Given the description of an element on the screen output the (x, y) to click on. 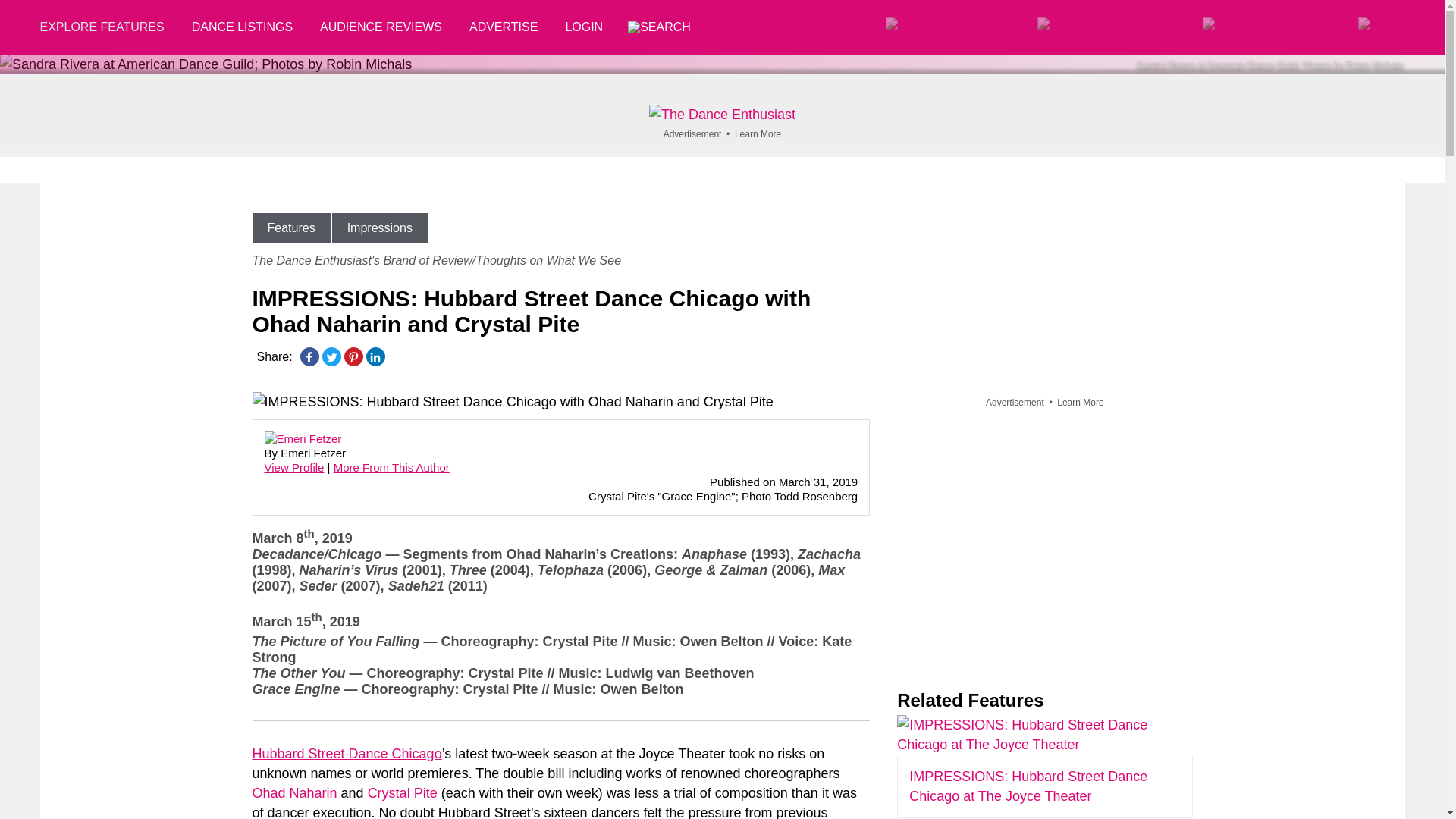
ADVERTISE (503, 27)
Facebook (309, 355)
DANCE LISTINGS (241, 27)
AUDIENCE REVIEWS (380, 27)
Twitter (331, 355)
LOGIN (583, 27)
EXPLORE FEATURES (108, 27)
Pinterest (353, 355)
LinkedIn (375, 355)
